Given the description of an element on the screen output the (x, y) to click on. 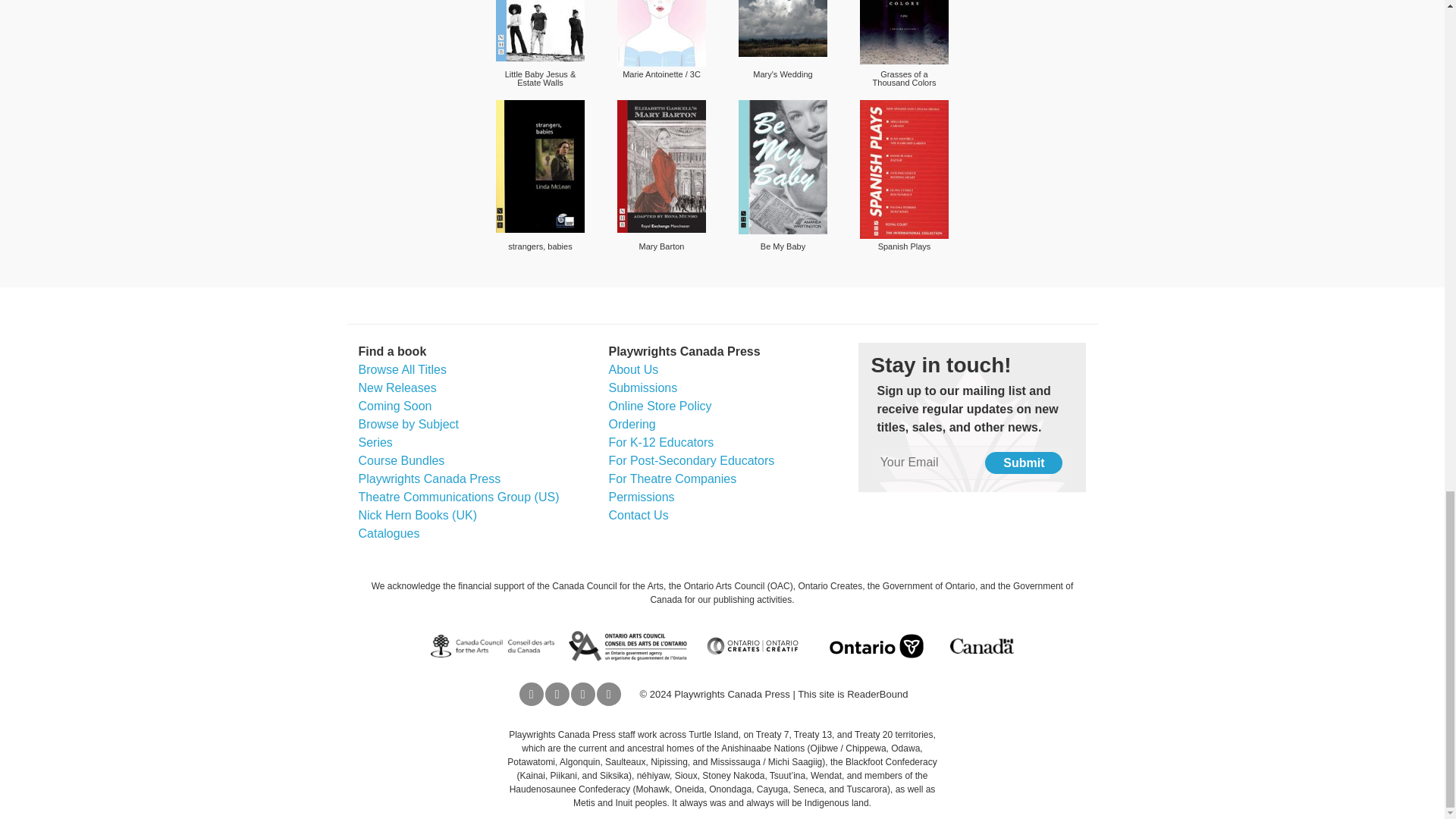
Mary Barton (661, 165)
Mary's Wedding (782, 28)
Grasses of a Thousand Colors (904, 32)
strangers, babies (540, 165)
Spanish Plays (904, 169)
Be My Baby (782, 166)
